Given the description of an element on the screen output the (x, y) to click on. 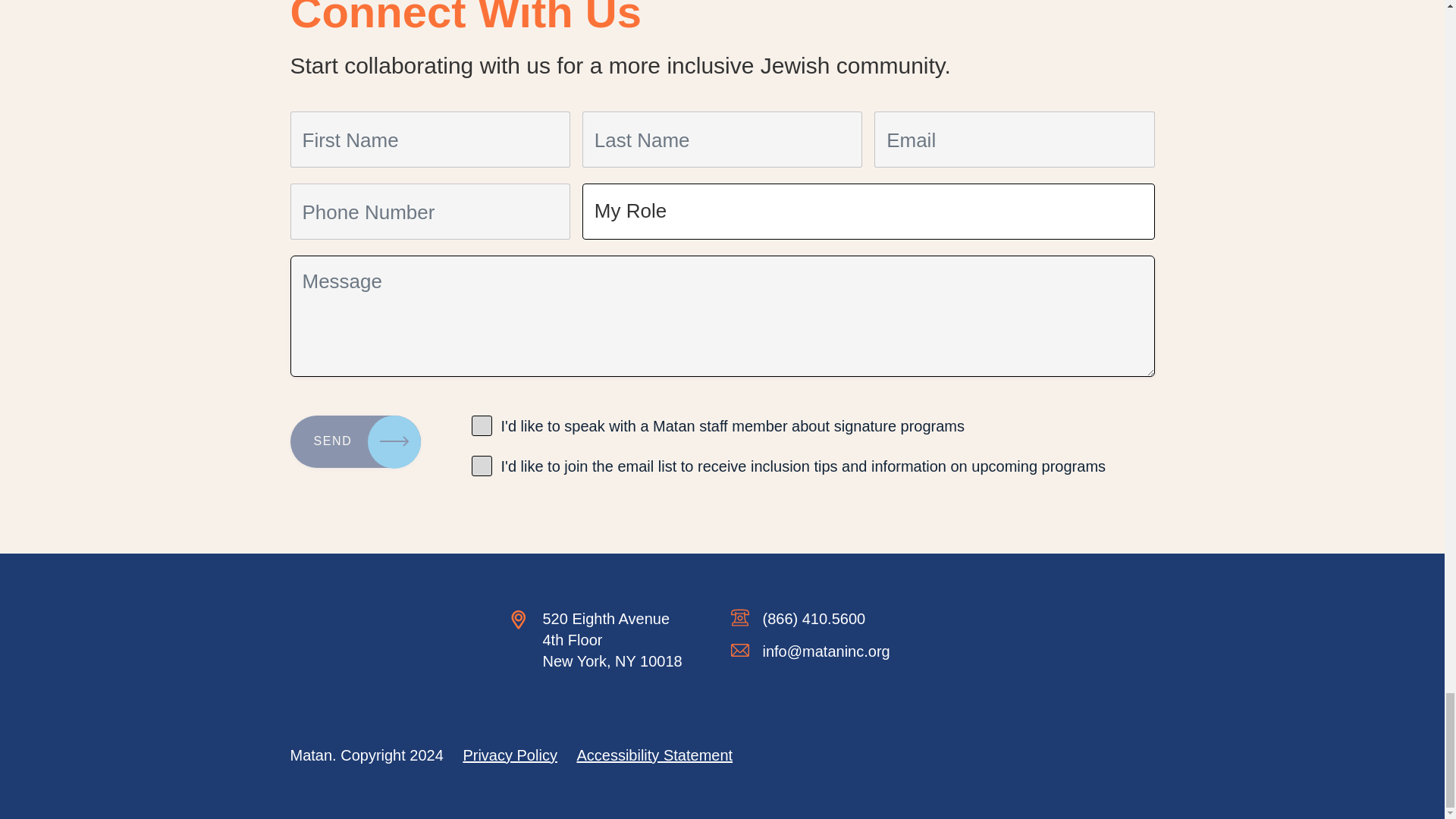
Privacy Policy (509, 754)
SEND (354, 441)
Accessibility Statement (654, 754)
